Given the description of an element on the screen output the (x, y) to click on. 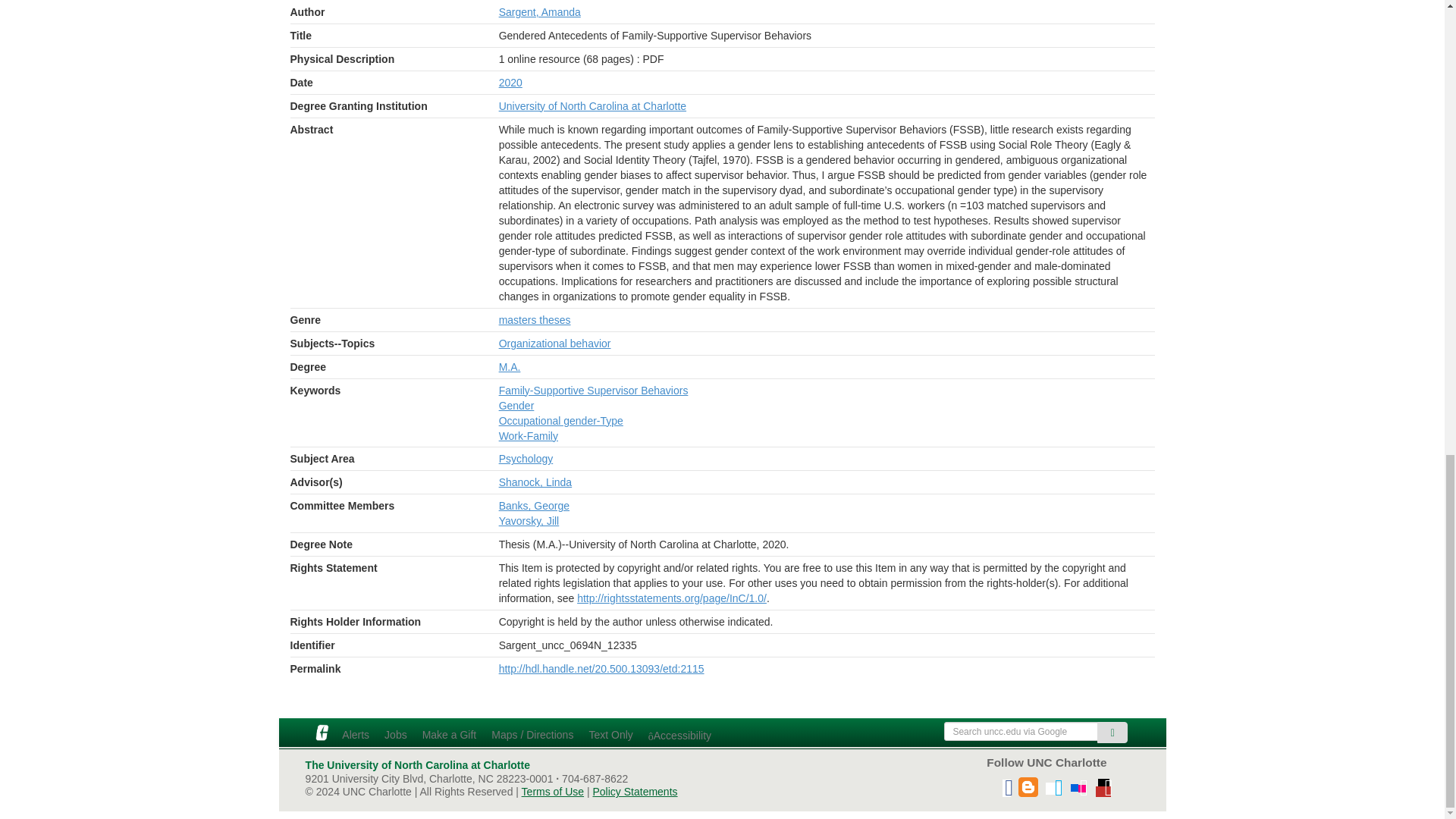
View this page as text only (610, 733)
Work-Family (528, 435)
Flickr (1077, 781)
Directions to UNC Charlotte (531, 733)
Accessibility (679, 733)
Jobs at UNC Charlotte (395, 733)
2020 (510, 82)
M.A. (510, 367)
Sargent, Amanda (539, 11)
Banks, George (534, 505)
masters theses (534, 319)
Accessibility resources at UNC Charlotte (679, 733)
Search uncc.edu via Google (1020, 731)
YouTube (1103, 781)
Twitter (1052, 781)
